Given the description of an element on the screen output the (x, y) to click on. 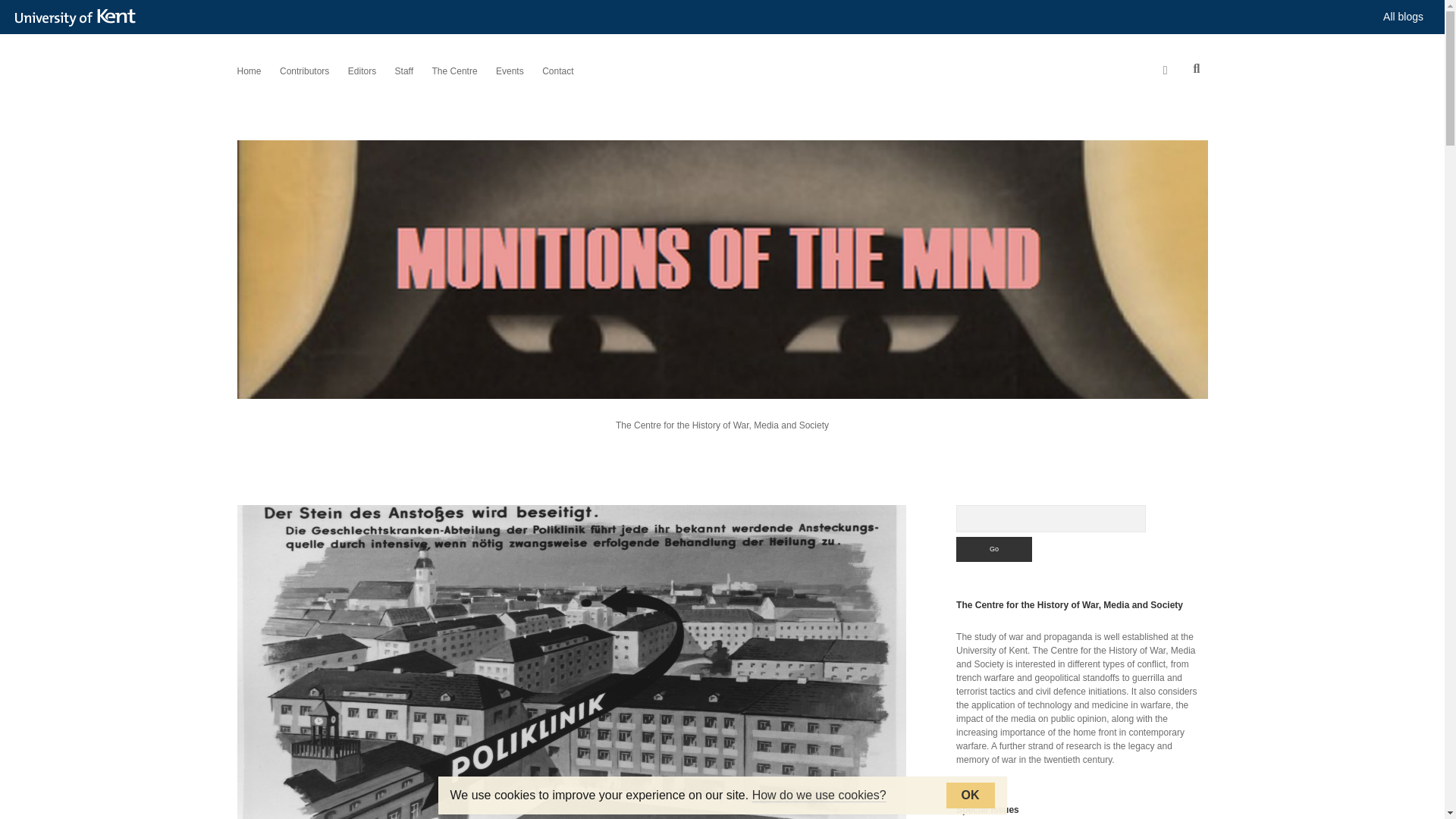
OK (970, 795)
Munitions of the Mind (721, 385)
All blogs (1403, 16)
Go (994, 549)
Contact (557, 70)
How do we use cookies? (819, 795)
Go (994, 549)
The Centre (454, 70)
University of Kent (78, 18)
Go (994, 549)
Home (247, 70)
Staff (403, 70)
University of Kent website homepage (78, 18)
Contributors (304, 70)
Events (510, 70)
